Given the description of an element on the screen output the (x, y) to click on. 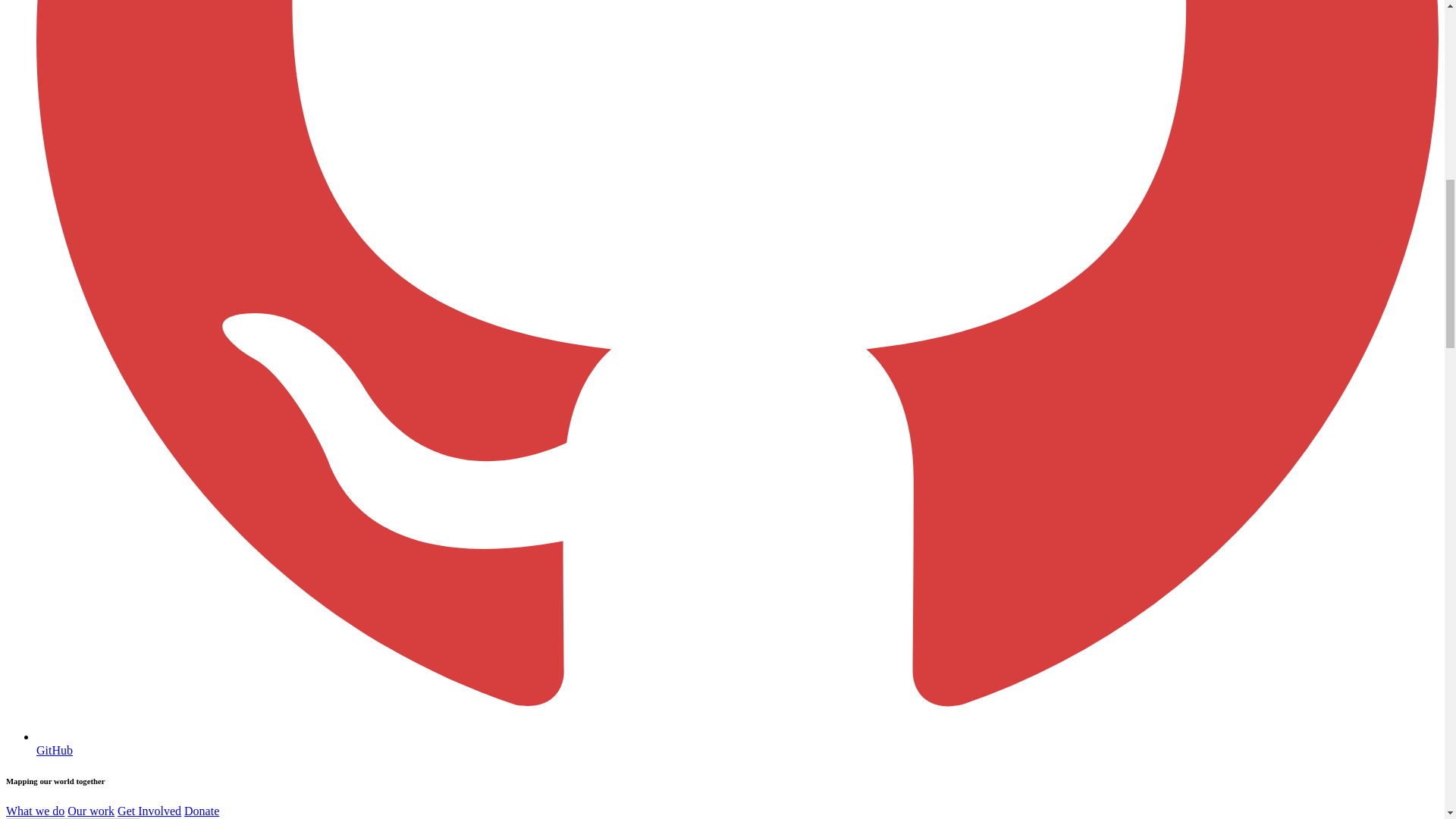
Our work (90, 810)
Get Involved (148, 810)
Donate (201, 810)
What we do (34, 810)
